Given the description of an element on the screen output the (x, y) to click on. 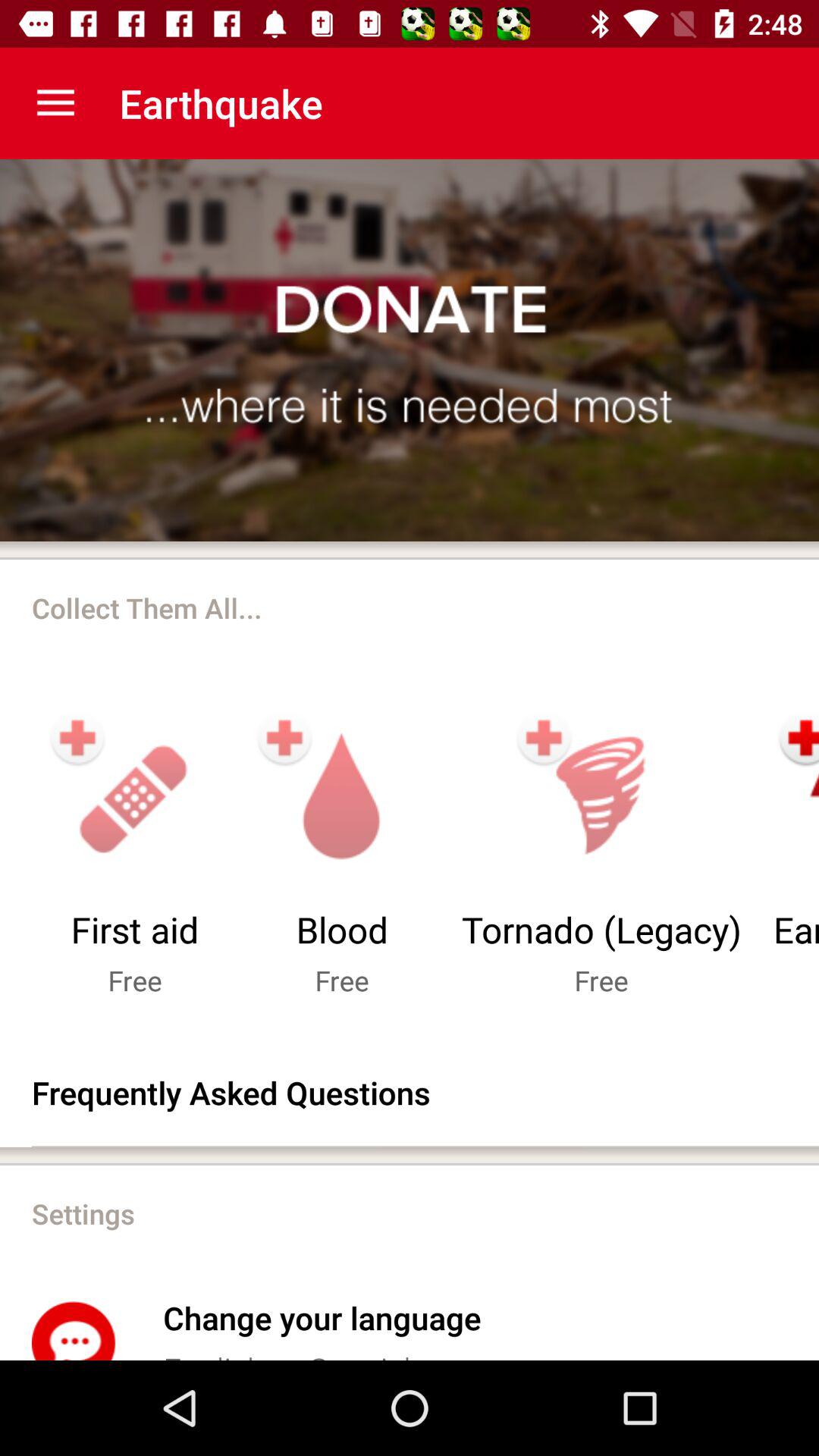
choose app next to the earthquake icon (55, 103)
